Given the description of an element on the screen output the (x, y) to click on. 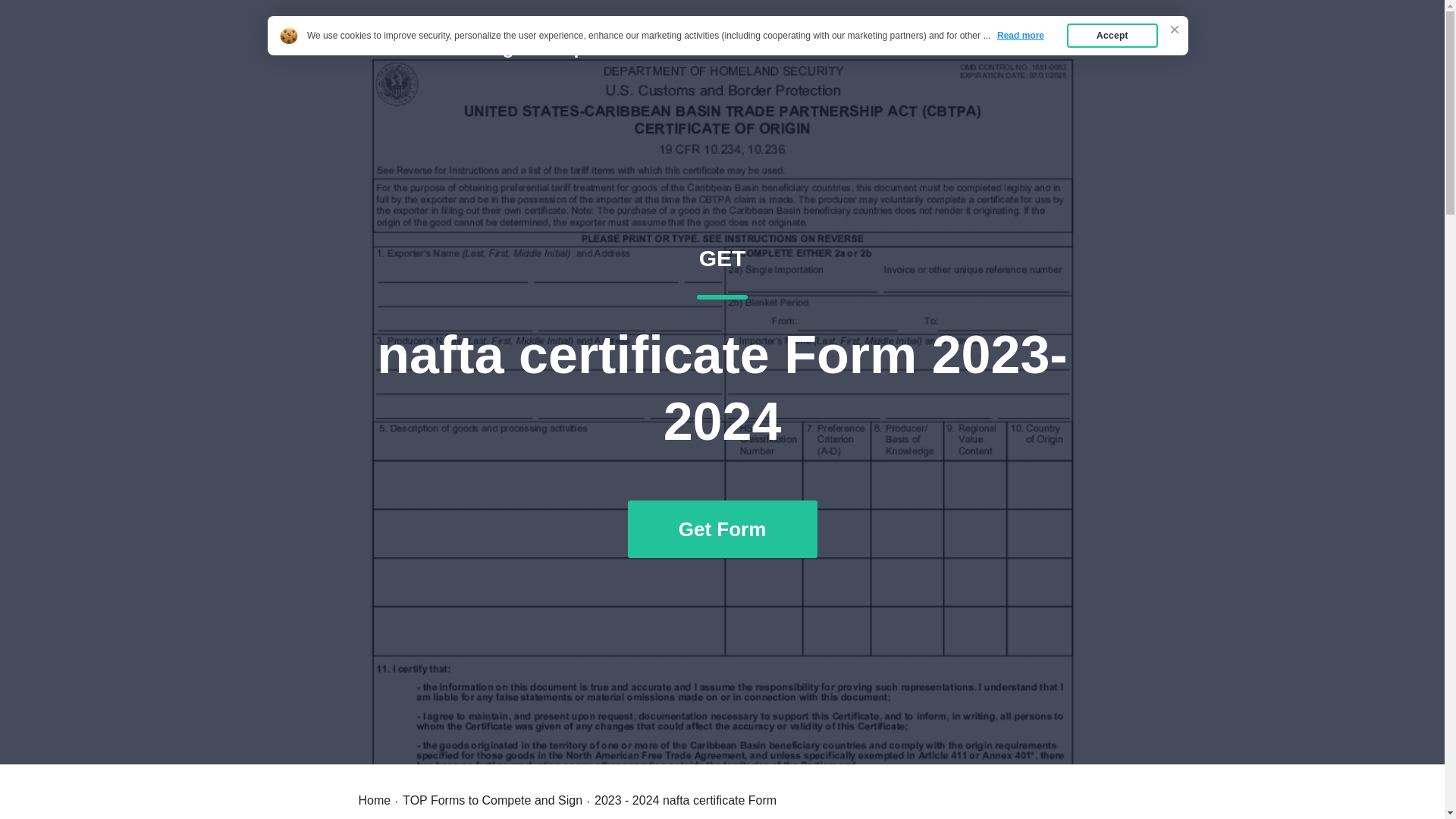
Certificate Of Origin Template (483, 46)
TOP Forms to Compete and Sign (492, 800)
Home (987, 47)
Top Forms (374, 800)
